Given the description of an element on the screen output the (x, y) to click on. 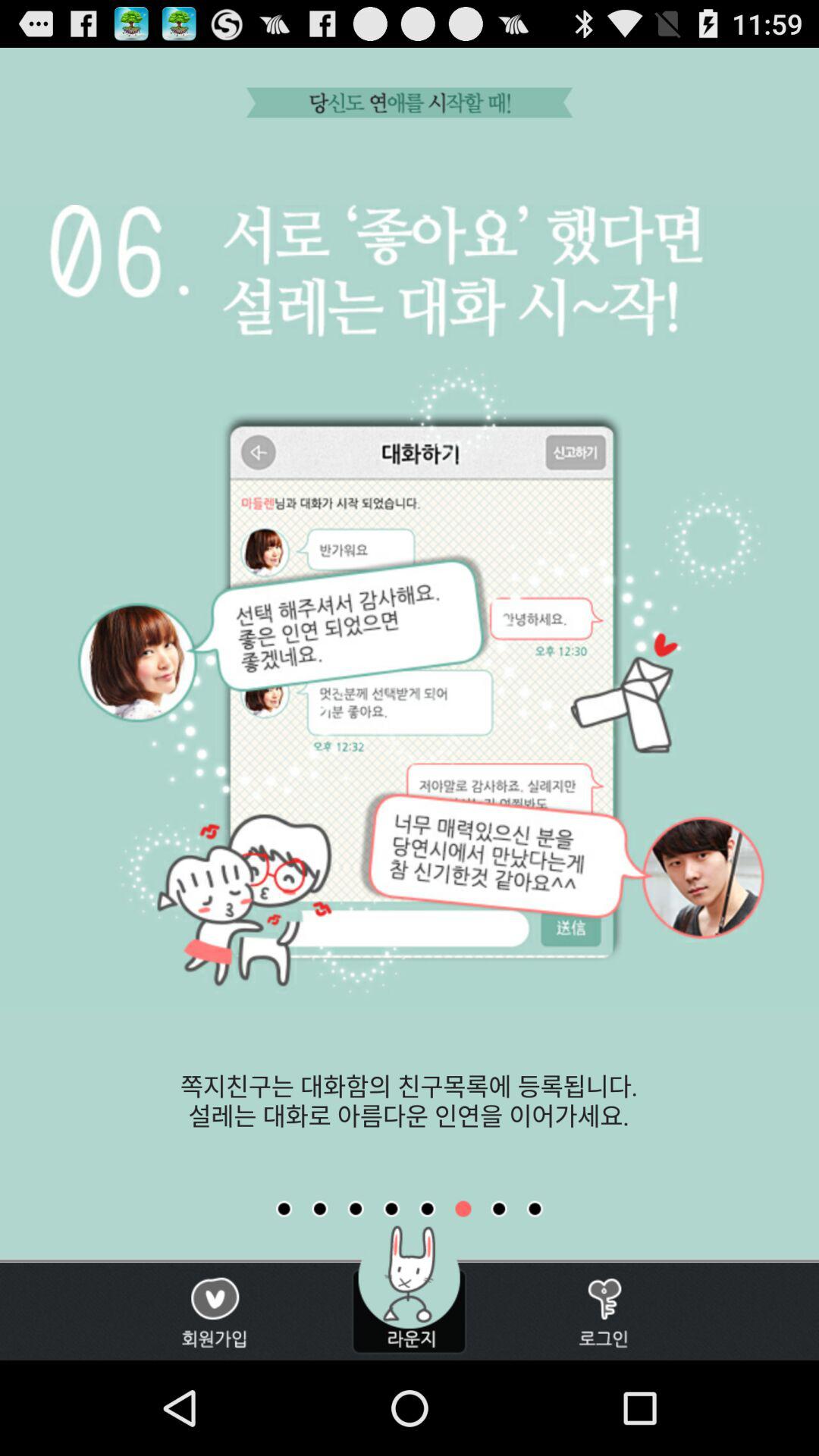
go to second slide (319, 1208)
